Given the description of an element on the screen output the (x, y) to click on. 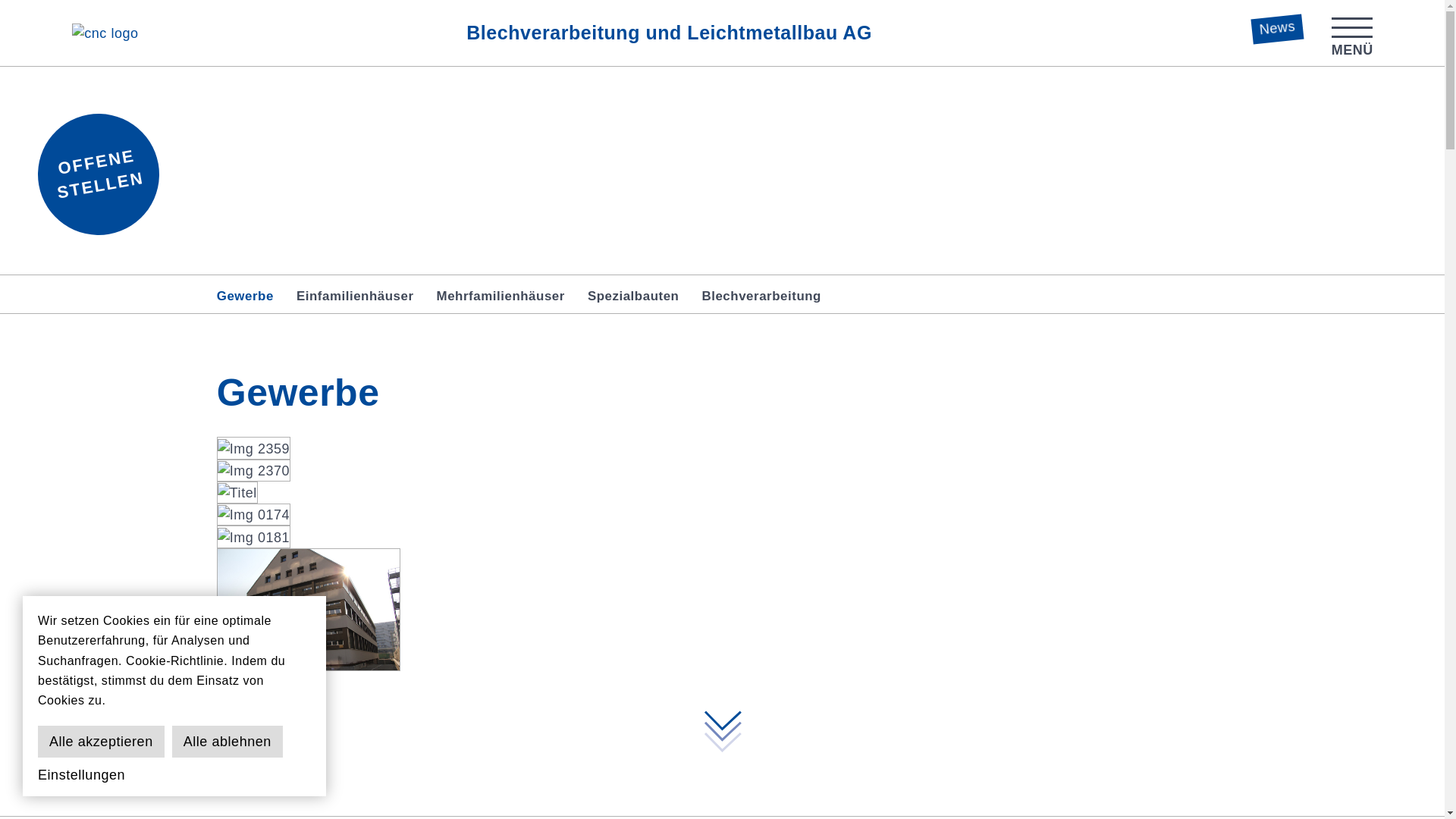
Alle akzeptieren Element type: text (100, 741)
Einstellungen Element type: text (81, 774)
OFFENE STELLEN Element type: text (95, 166)
Alle ablehnen Element type: text (227, 741)
Blechverarbeitung Element type: text (761, 295)
Spezialbauten Element type: text (633, 295)
News Element type: text (1276, 26)
Gewerbe Element type: text (244, 295)
